Given the description of an element on the screen output the (x, y) to click on. 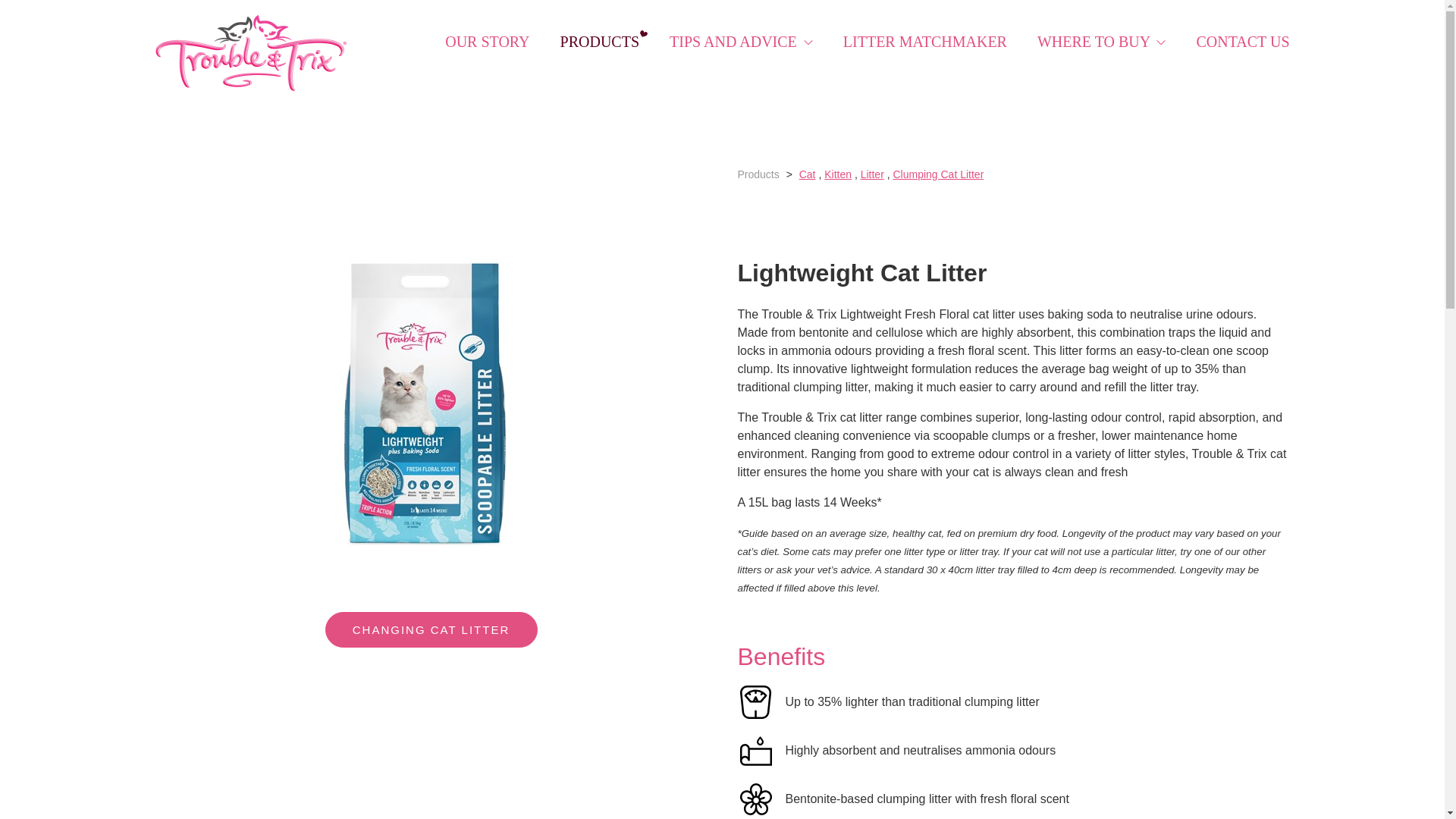
Litter (871, 174)
PRODUCTS (599, 41)
CHANGING CAT LITTER (430, 629)
Cat (807, 174)
Kitten (837, 174)
TIPS AND ADVICE (740, 41)
CONTACT US (1241, 41)
Products by Clumping Cat Litter (938, 174)
WHERE TO BUY (1101, 41)
Products by Litter (871, 174)
Products by Kitten (837, 174)
Trouble And Trix (250, 52)
OUR STORY (487, 41)
Clumping Cat Litter (938, 174)
Products (757, 174)
